Given the description of an element on the screen output the (x, y) to click on. 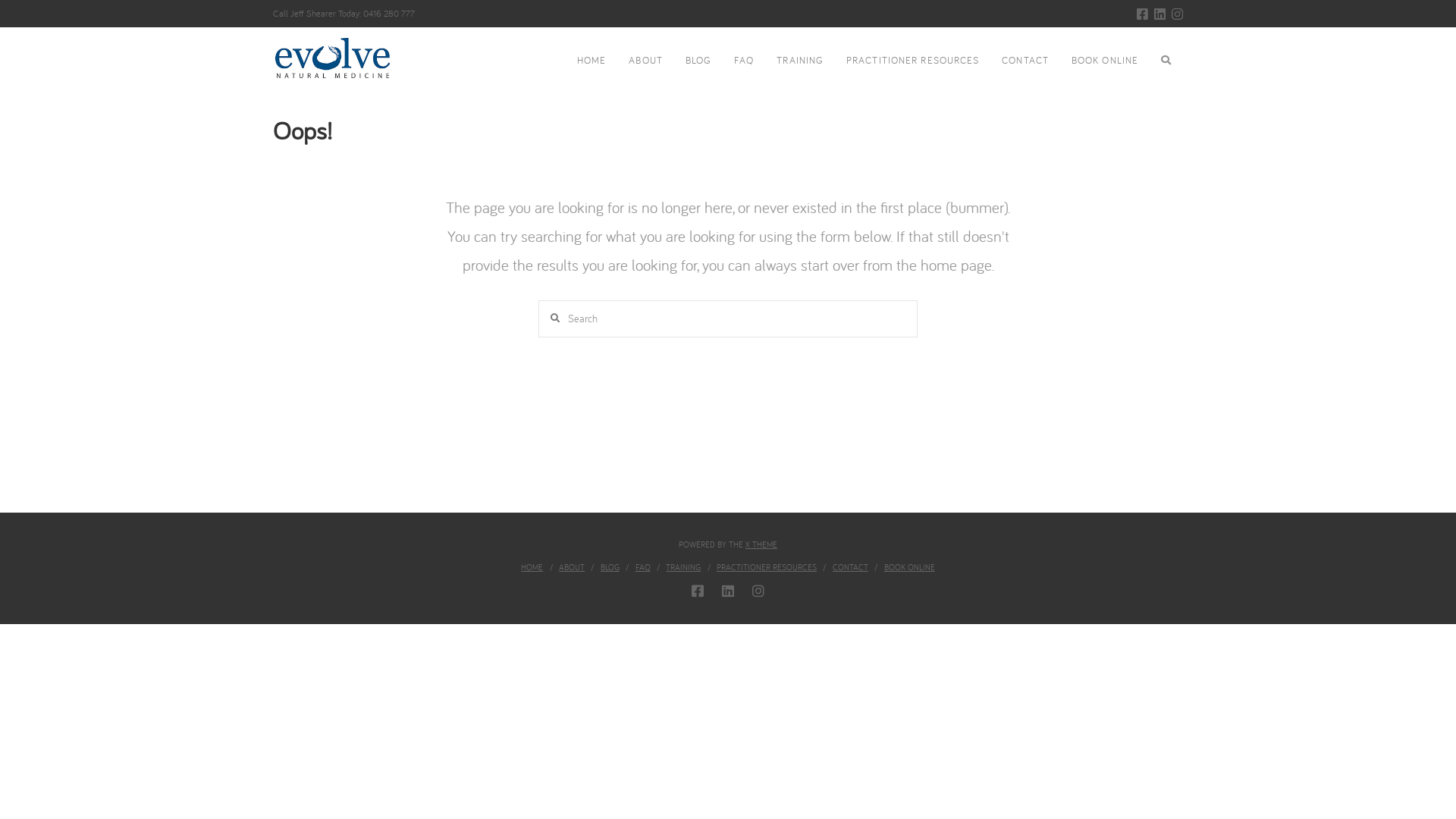
Instagram Element type: hover (1177, 13)
LinkedIn Element type: hover (1159, 13)
HOME Element type: text (531, 566)
X THEME Element type: text (761, 544)
Instagram Element type: hover (758, 590)
CONTACT Element type: text (1025, 61)
FAQ Element type: text (642, 566)
PRACTITIONER RESOURCES Element type: text (912, 61)
FAQ Element type: text (743, 61)
BLOG Element type: text (609, 566)
BOOK ONLINE Element type: text (909, 566)
TRAINING Element type: text (799, 61)
ABOUT Element type: text (645, 61)
ABOUT Element type: text (571, 566)
CONTACT Element type: text (850, 566)
Facebook Element type: hover (1142, 13)
PRACTITIONER RESOURCES Element type: text (766, 566)
BLOG Element type: text (698, 61)
LinkedIn Element type: hover (727, 590)
BOOK ONLINE Element type: text (1104, 61)
Facebook Element type: hover (697, 590)
TRAINING Element type: text (682, 566)
HOME Element type: text (590, 61)
